Given the description of an element on the screen output the (x, y) to click on. 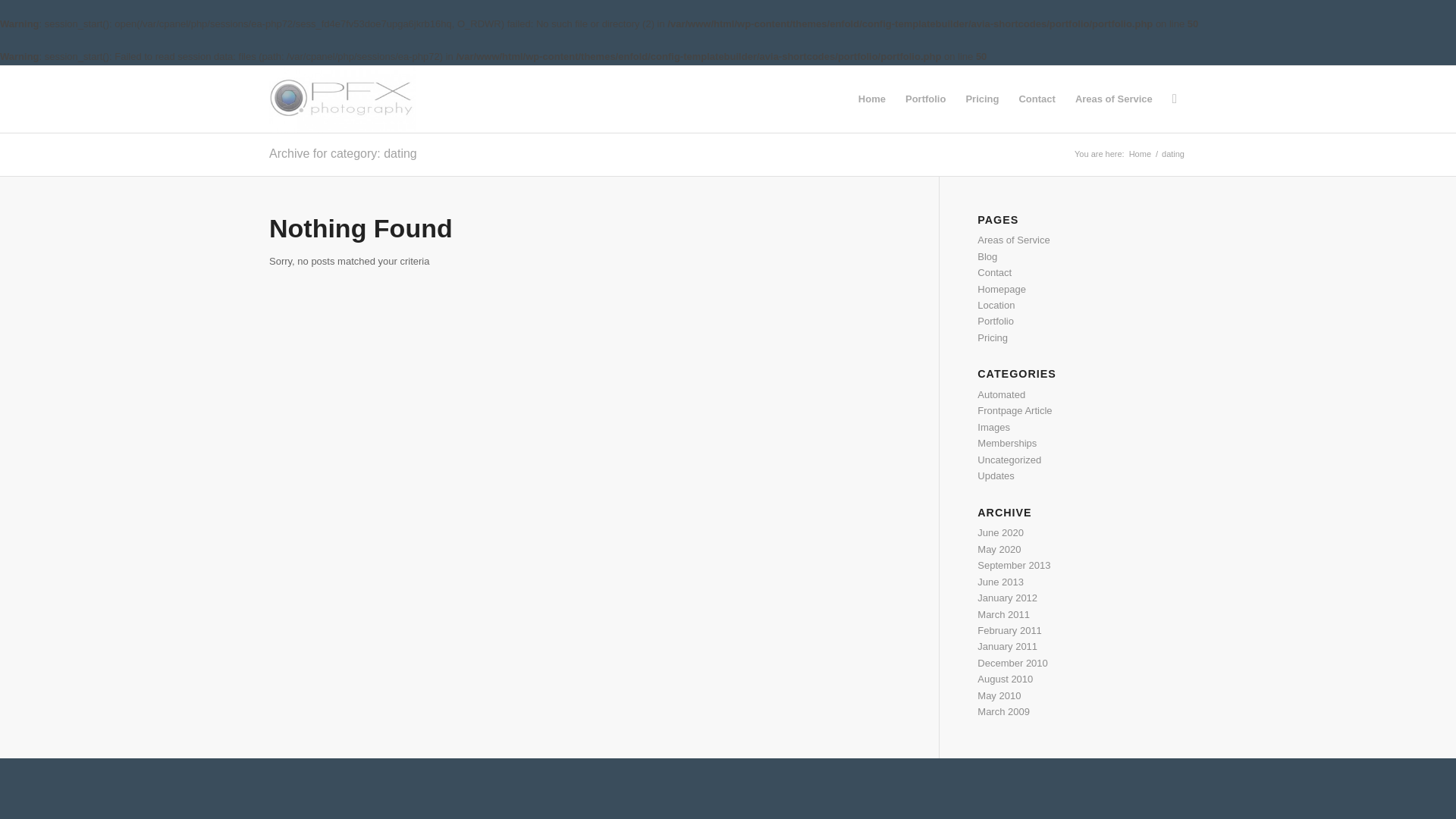
Areas of Service (1113, 99)
PFX Photo (1139, 153)
Home (1139, 153)
Portfolio (925, 99)
Permanent Link: Archive for category: dating (342, 153)
Archive for category: dating (342, 153)
